Given the description of an element on the screen output the (x, y) to click on. 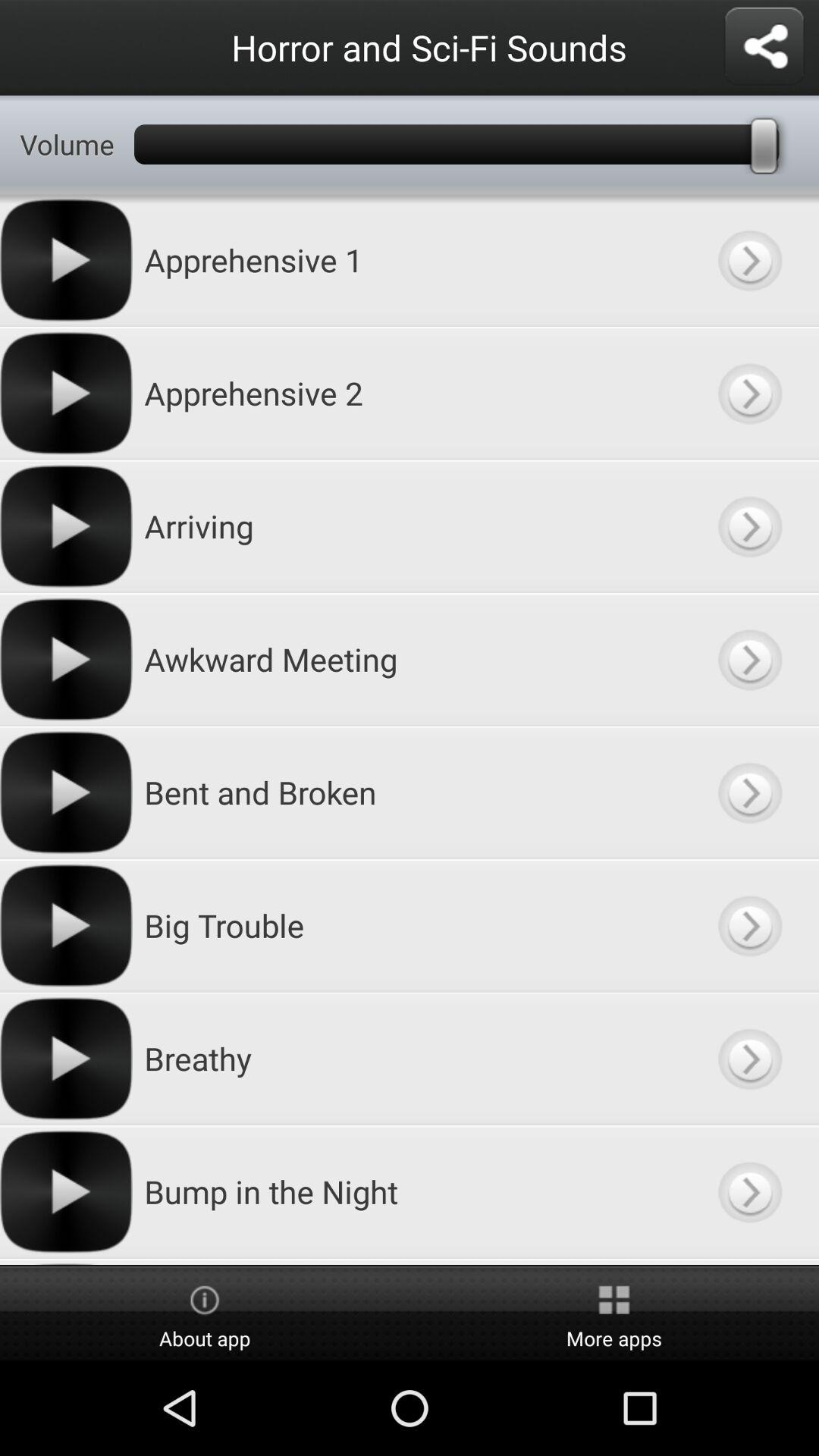
choose file option (749, 659)
